Given the description of an element on the screen output the (x, y) to click on. 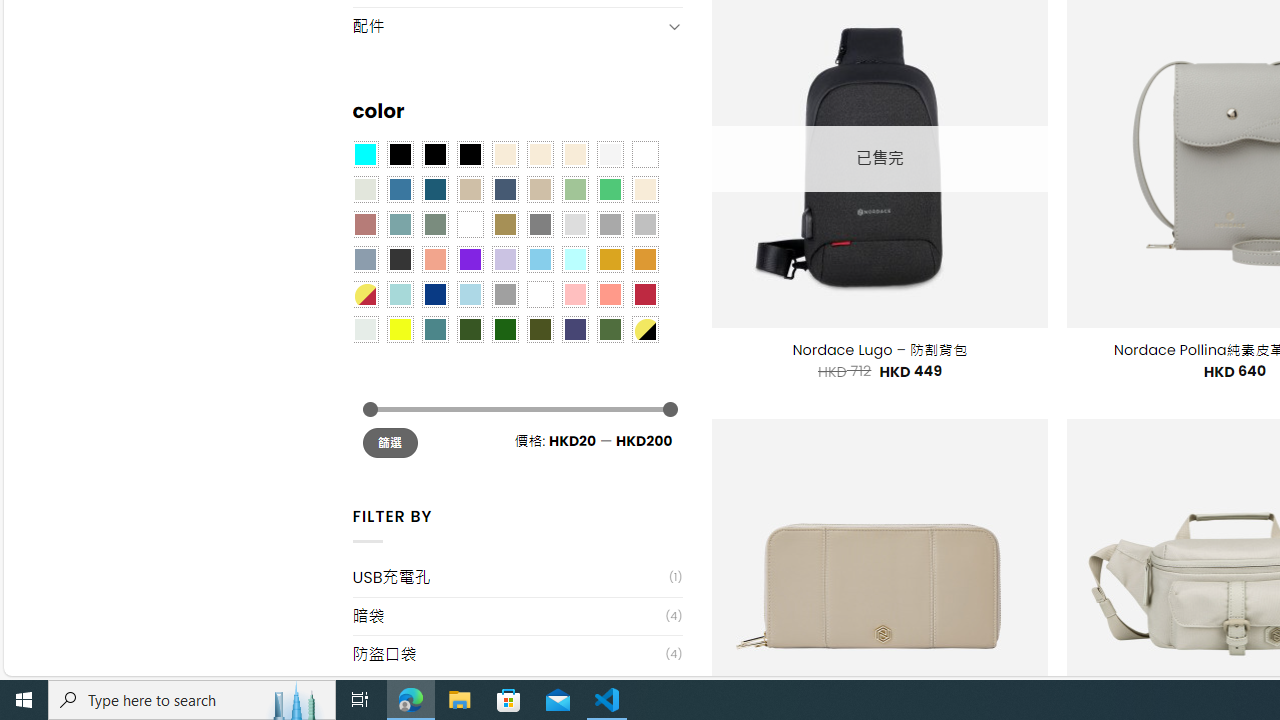
Dull Nickle (364, 329)
Cream (574, 154)
